Given the description of an element on the screen output the (x, y) to click on. 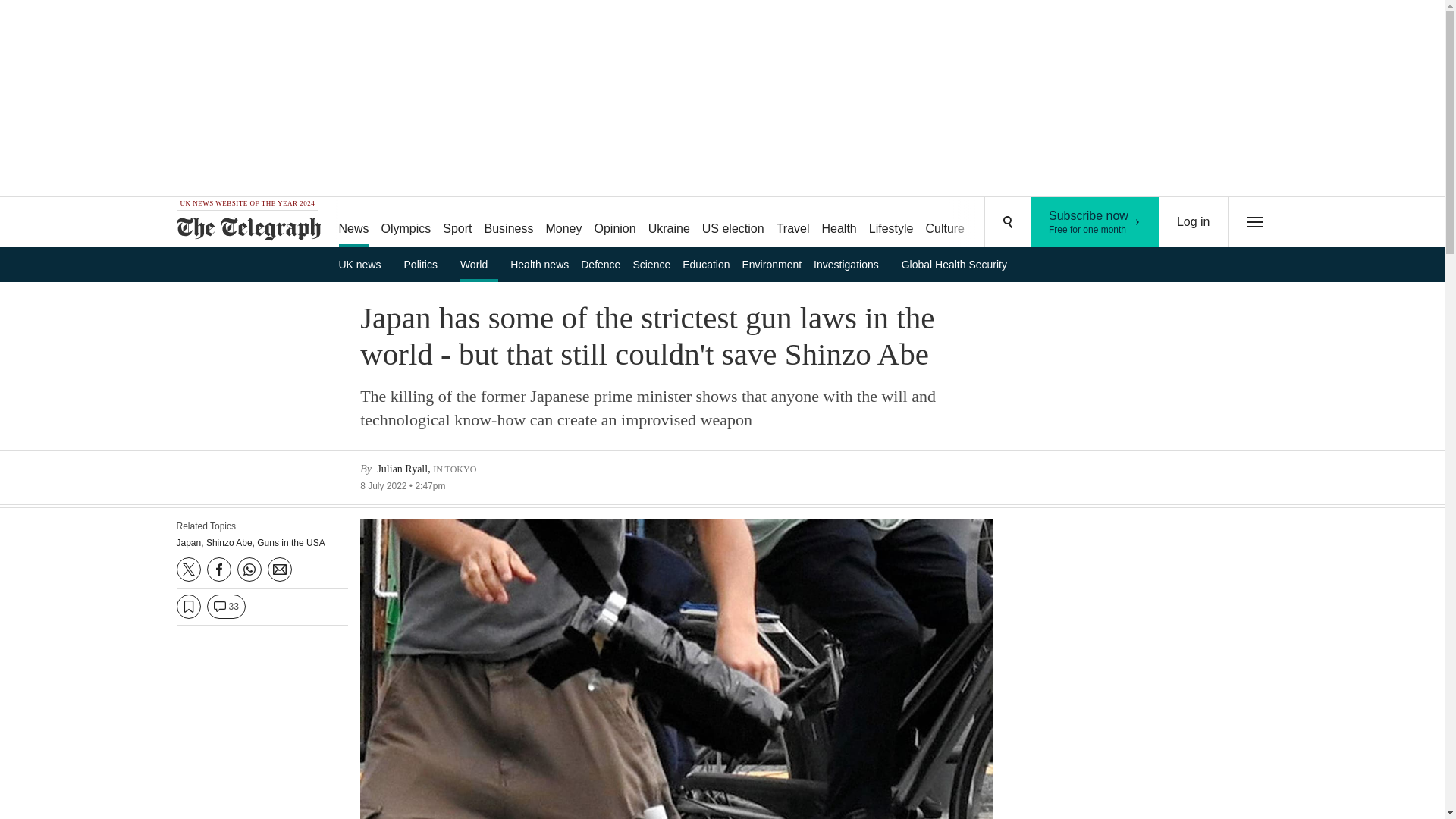
Olympics (406, 223)
UK news (364, 264)
Health (838, 223)
Log in (1193, 222)
Money (563, 223)
Puzzles (1094, 222)
Opinion (998, 223)
US election (615, 223)
Culture (732, 223)
Lifestyle (944, 223)
Podcasts (891, 223)
Business (1056, 223)
Politics (509, 223)
Travel (425, 264)
